Given the description of an element on the screen output the (x, y) to click on. 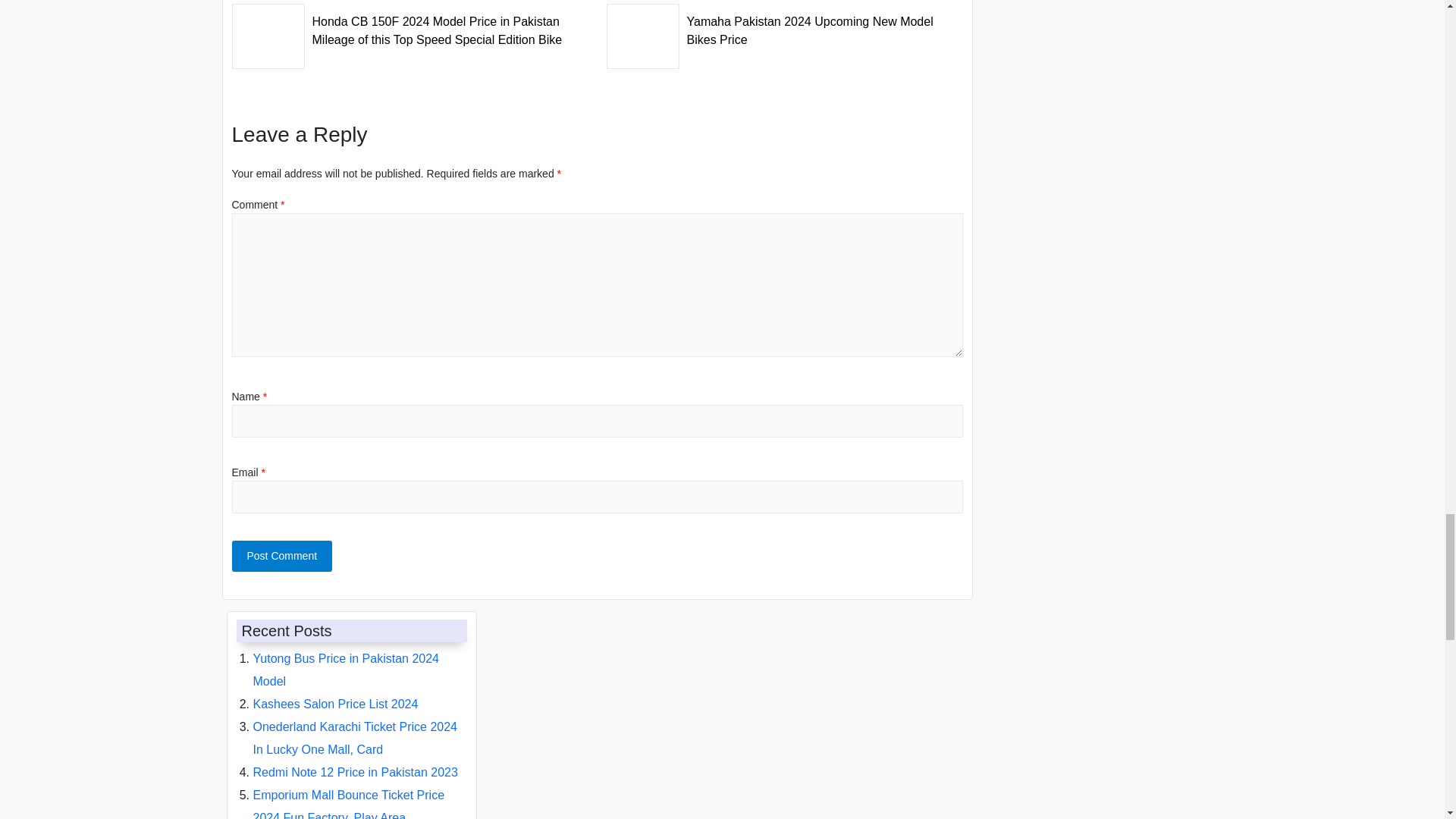
Kashees Salon Price List 2024 (336, 703)
Post Comment (282, 555)
Post Comment (282, 555)
Redmi Note 12 Price in Pakistan 2023 (355, 771)
Yamaha Pakistan 2024 Upcoming New Model Bikes Price (784, 26)
Onederland Karachi Ticket Price 2024 In Lucky One Mall, Card (355, 737)
Yutong Bus Price in Pakistan 2024 Model (346, 669)
